Given the description of an element on the screen output the (x, y) to click on. 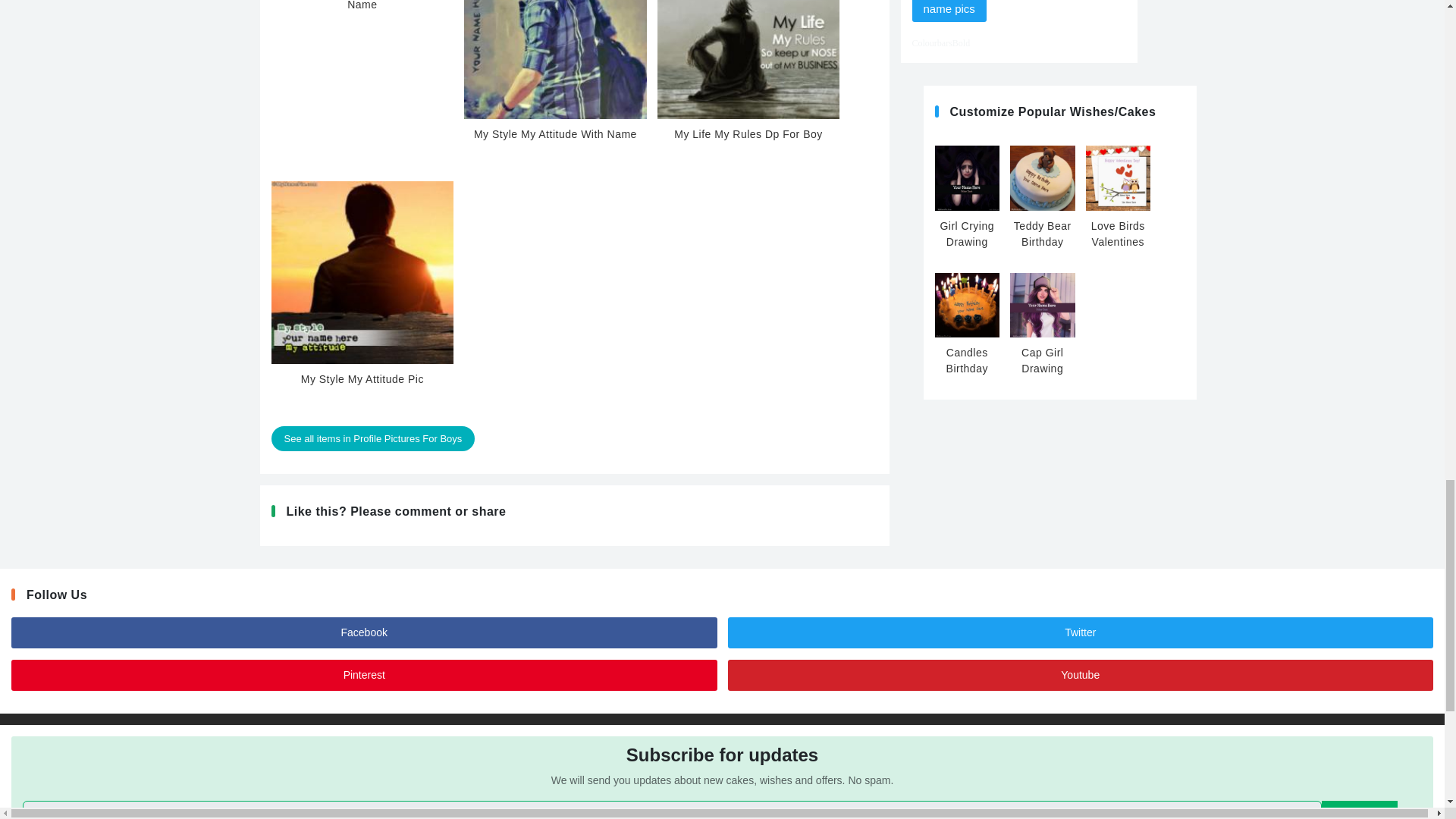
My Style My Attitude Pic (362, 334)
I am Lonely without YOU With Name (362, 6)
My Life My Rules Dp For Boy (749, 89)
See all items in Profile Pictures For Boys (373, 438)
My Style My Attitude With Name (555, 89)
name pics (948, 11)
